Given the description of an element on the screen output the (x, y) to click on. 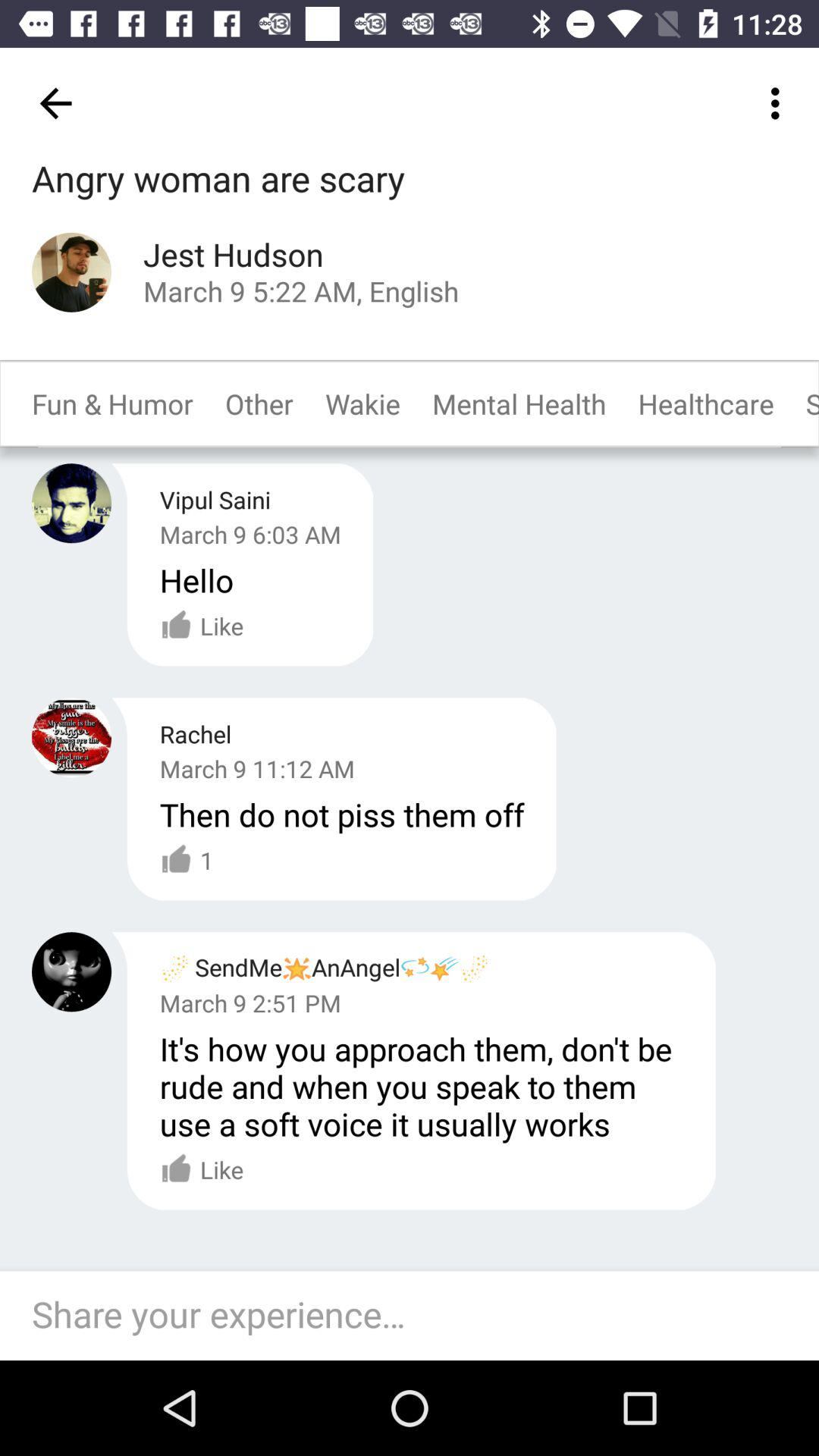
user id icon (71, 272)
